Given the description of an element on the screen output the (x, y) to click on. 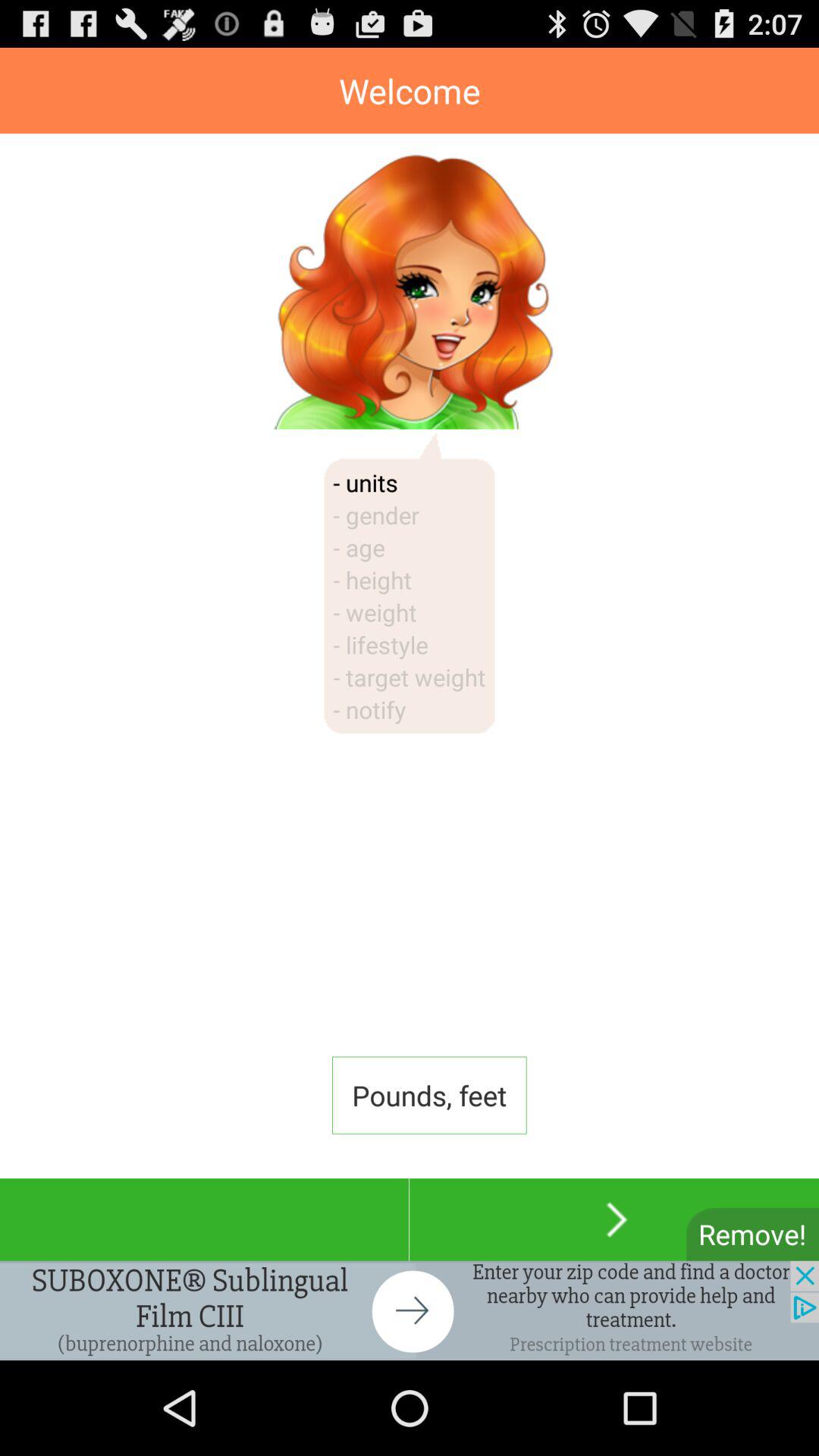
see advertisement (409, 1310)
